Given the description of an element on the screen output the (x, y) to click on. 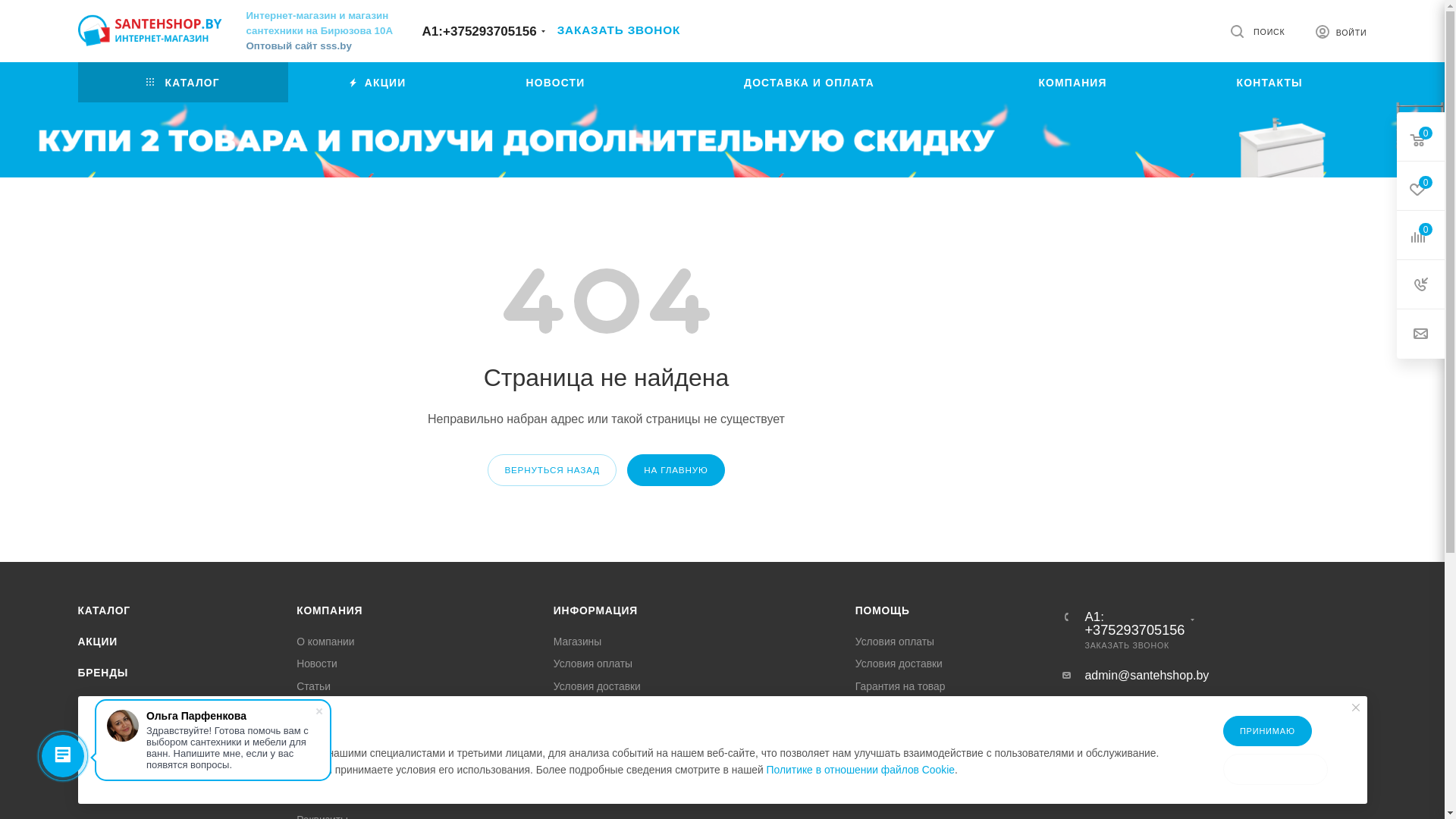
A1:
+375293705156 Element type: text (1134, 623)
admin@santehshop.by Element type: text (1146, 675)
SANTEHSHOP.BY Element type: hover (149, 30)
A1:+375293705156 Element type: text (478, 31)
+375293705156 Element type: text (1134, 630)
+375293705156 Element type: text (489, 31)
